Given the description of an element on the screen output the (x, y) to click on. 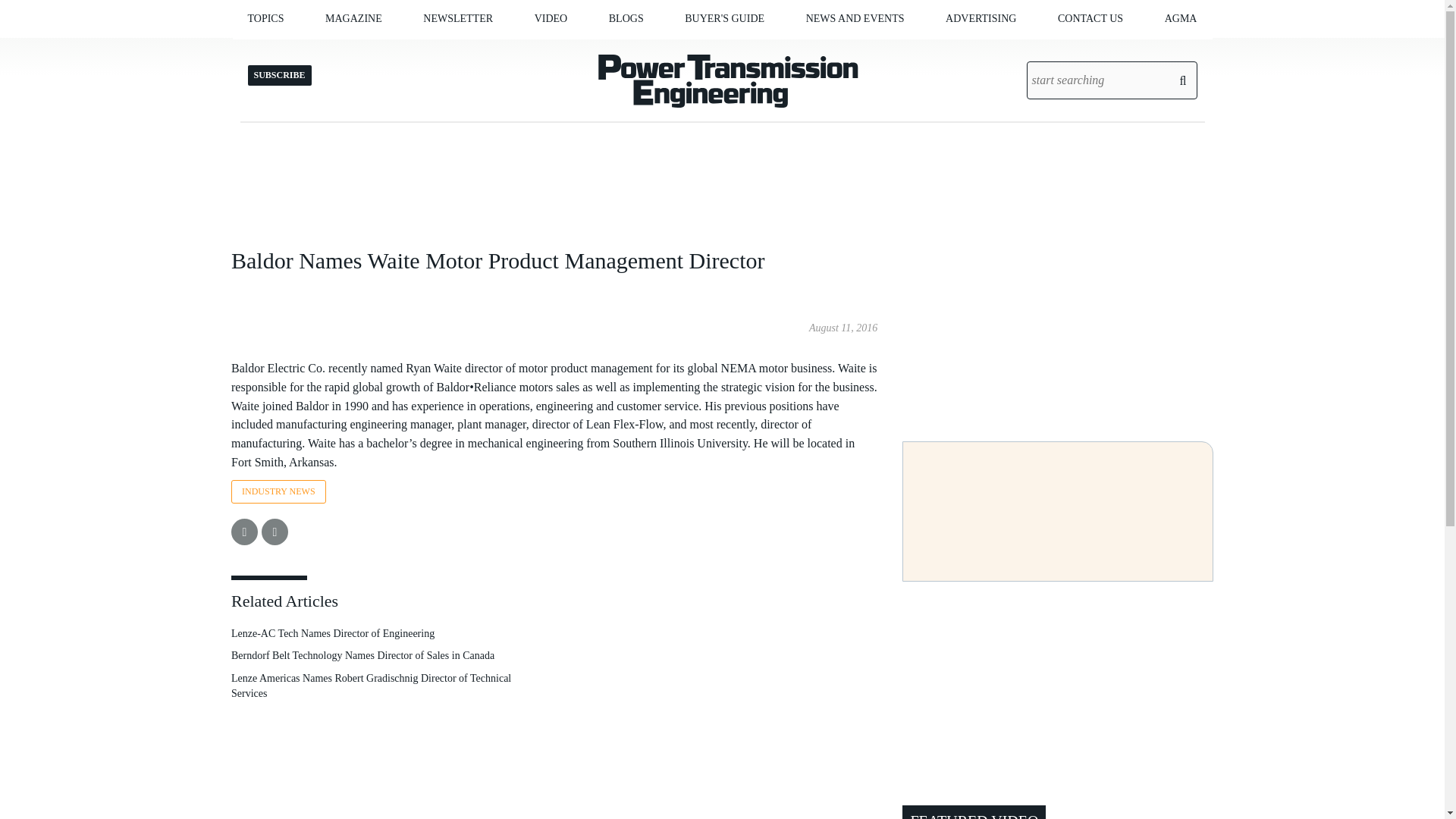
INDUSTRY (342, 50)
MANUFACTURING (328, 50)
REVOLUTIONS (684, 50)
BLOGS (625, 18)
DEPARTMENTS (407, 50)
POWER TRANSMISSION ENGINEERING TV (609, 55)
PRODUCT NEWS (882, 50)
COMPONENTS (338, 50)
DESIGN (322, 50)
SUBSCRIBE (416, 50)
BUYER'S GUIDE (724, 18)
MRO (345, 50)
WEBINARS (617, 50)
CURRENT ISSUE (400, 50)
INDUSTRY NEWS (886, 50)
